Given the description of an element on the screen output the (x, y) to click on. 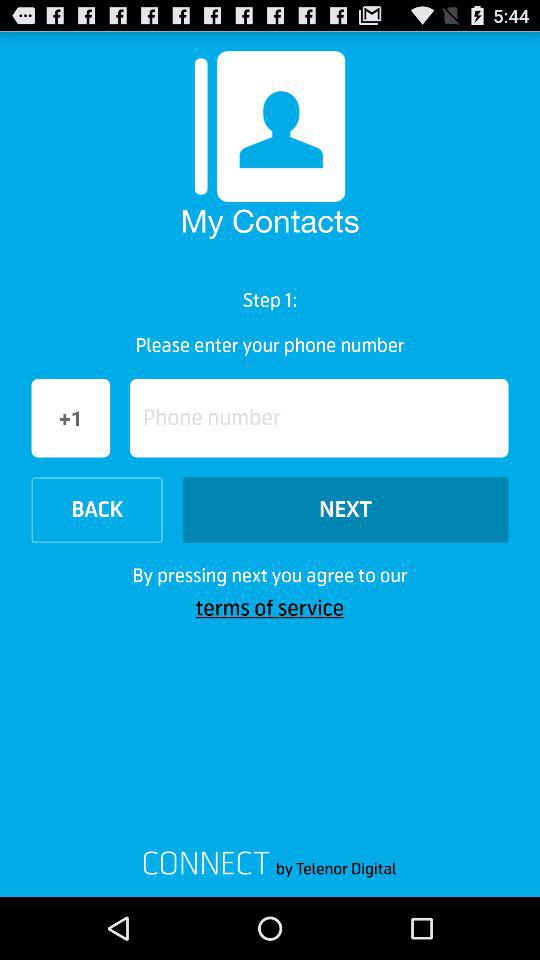
click on the text next (346, 510)
select terms of service (270, 608)
click the option back at left side of next (97, 510)
click the option of phone number above next (319, 418)
click on1 (70, 418)
